Given the description of an element on the screen output the (x, y) to click on. 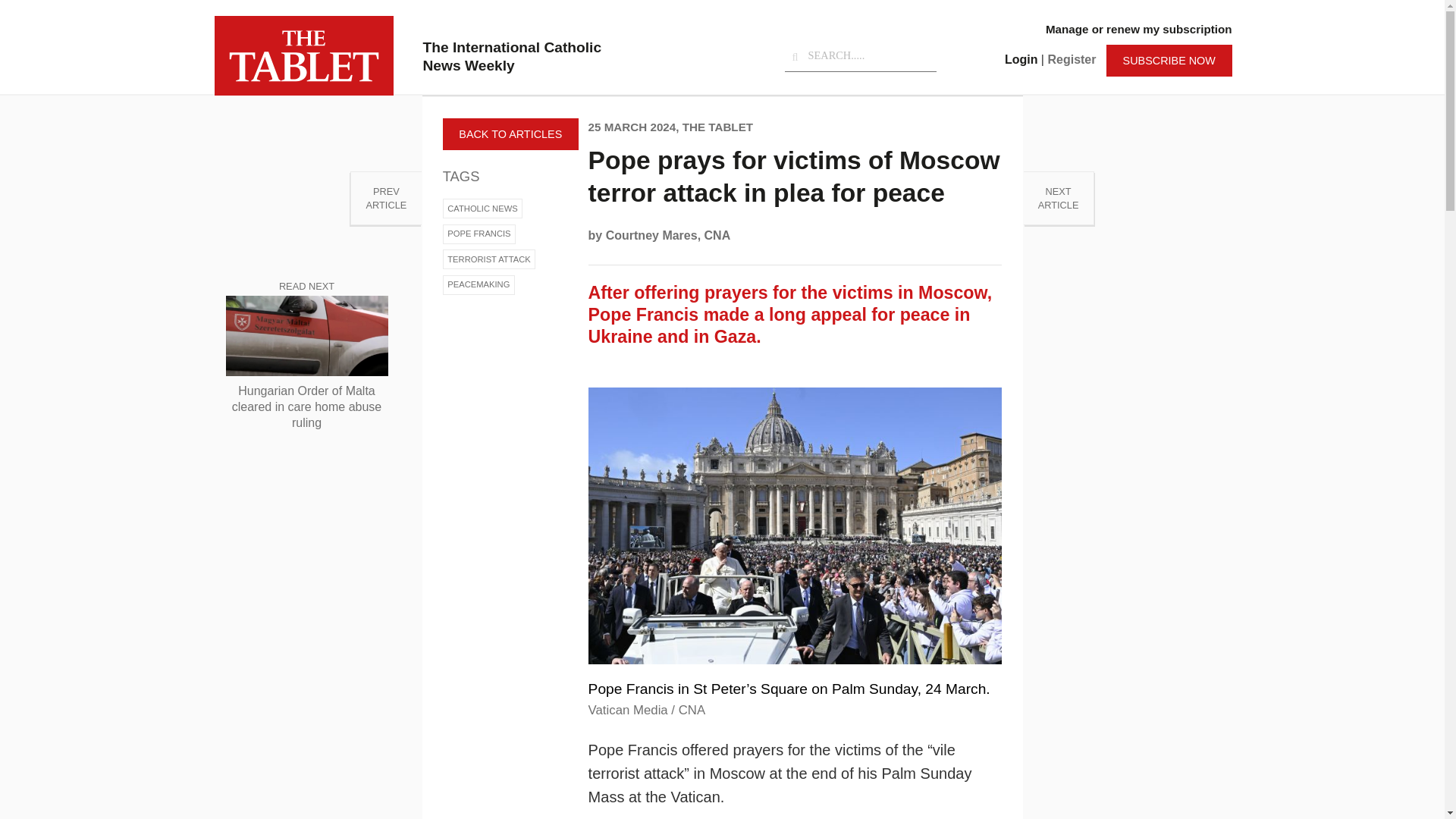
The Tablet (303, 54)
peacemaking (478, 284)
BACK TO ARTICLES (510, 133)
Manage or renew my subscription (1138, 29)
CATHOLIC NEWS (482, 208)
Hungarian Order of Malta cleared in care home abuse ruling (306, 406)
Register (1071, 59)
PEACEMAKING (478, 284)
terrorist attack (488, 259)
POPE FRANCIS (479, 234)
